Given the description of an element on the screen output the (x, y) to click on. 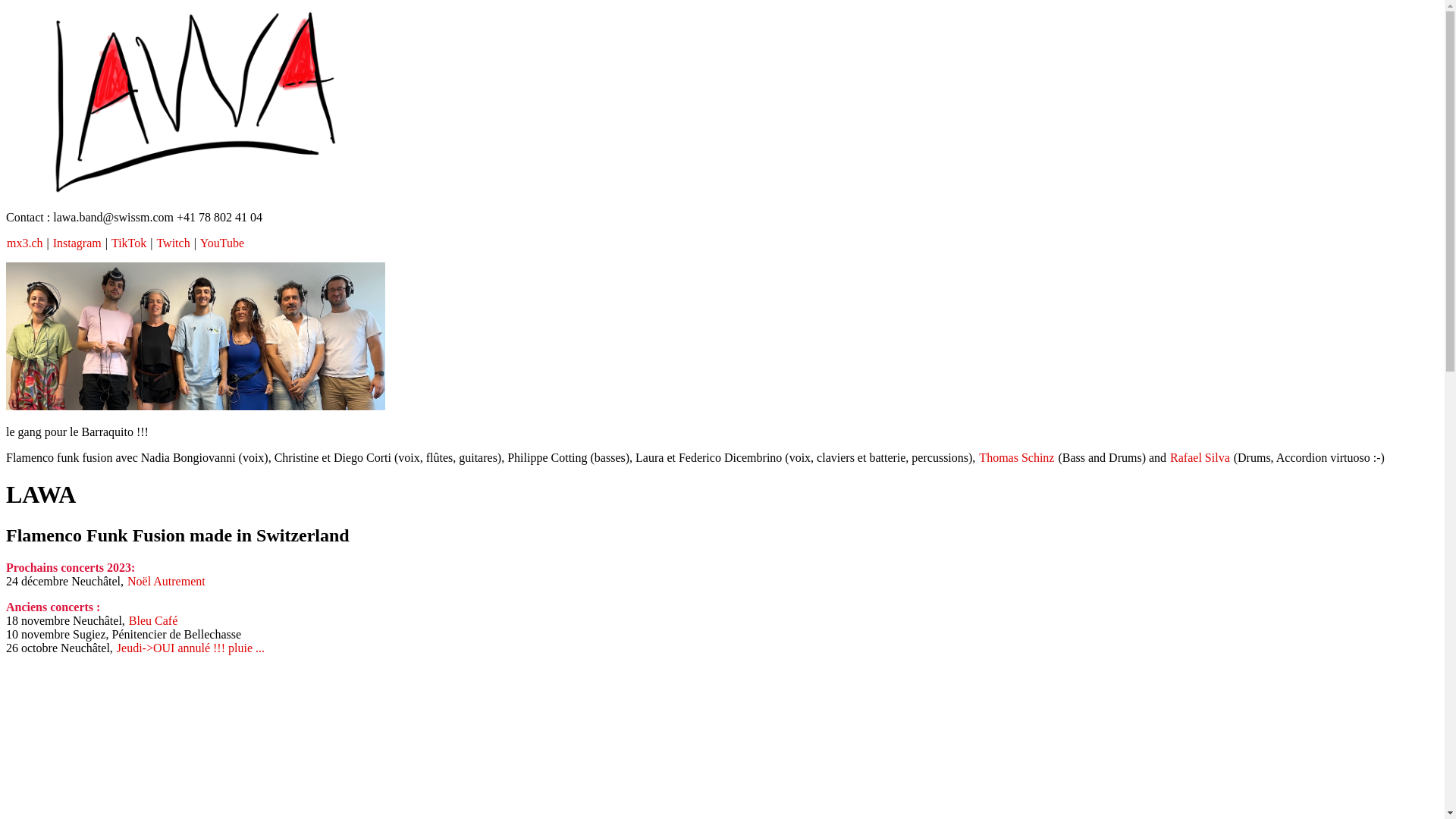
YouTube Element type: text (221, 242)
Rafael Silva Element type: text (1199, 456)
mx3.ch Element type: text (24, 242)
TikTok Element type: text (128, 242)
Instagram Element type: text (77, 242)
Thomas Schinz Element type: text (1016, 456)
Twitch Element type: text (172, 242)
